Given the description of an element on the screen output the (x, y) to click on. 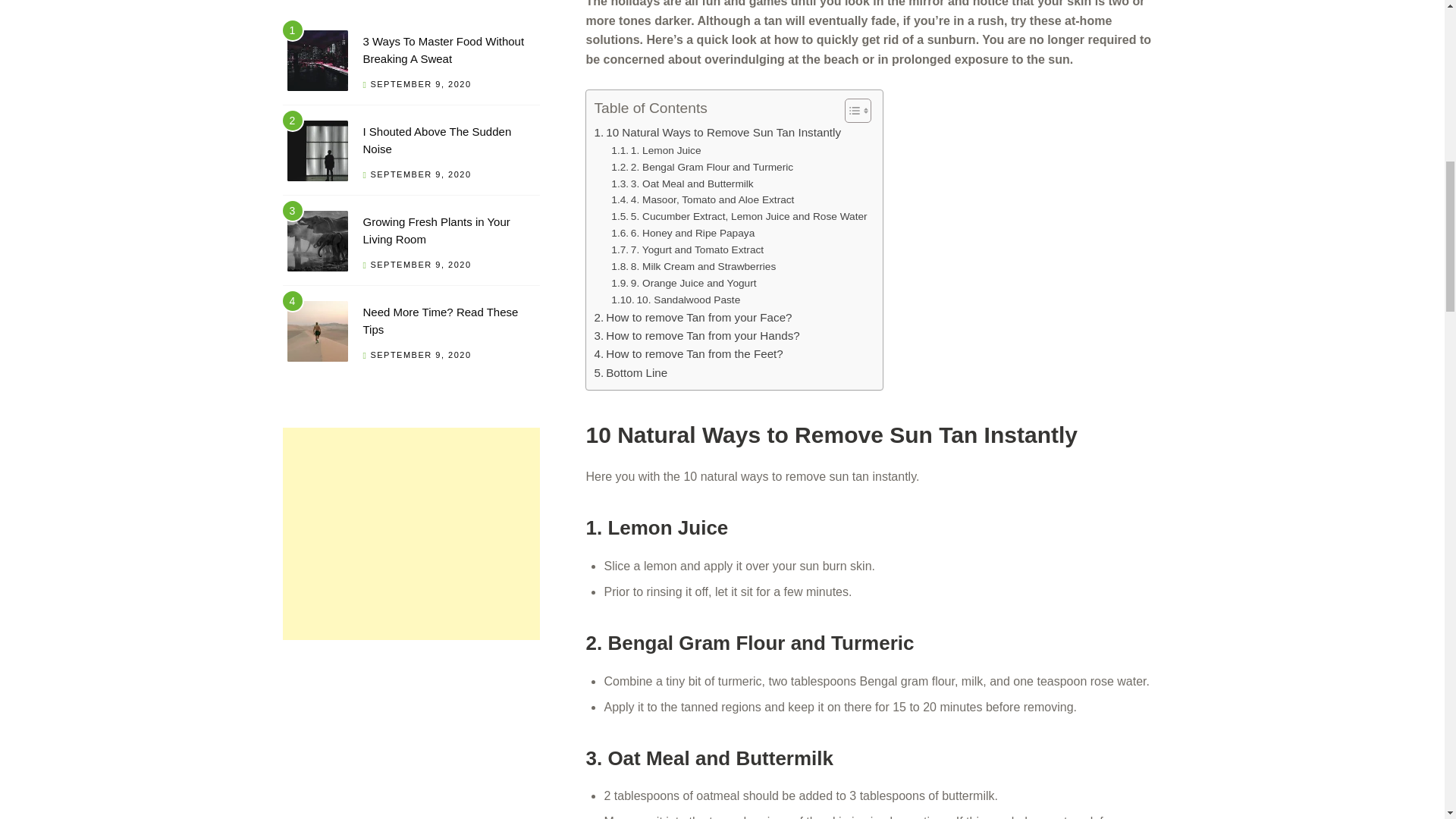
3 Ways To Master Food Without Breaking A Sweat (443, 50)
5. Cucumber Extract, Lemon Juice and Rose Water (738, 216)
Bottom Line (630, 372)
2. Bengal Gram Flour and Turmeric (702, 167)
3. Oat Meal and Buttermilk (681, 184)
10 Natural Ways to Remove Sun Tan Instantly (717, 132)
4. Masoor, Tomato and Aloe Extract (702, 199)
SEPTEMBER 9, 2020 (419, 174)
7. Yogurt and Tomato Extract (686, 249)
6. Honey and Ripe Papaya (682, 233)
SEPTEMBER 9, 2020 (419, 83)
2. Bengal Gram Flour and Turmeric (702, 167)
How to remove Tan from your Face? (693, 317)
How to remove Tan from the Feet? (688, 353)
How to remove Tan from your Hands? (696, 335)
